Given the description of an element on the screen output the (x, y) to click on. 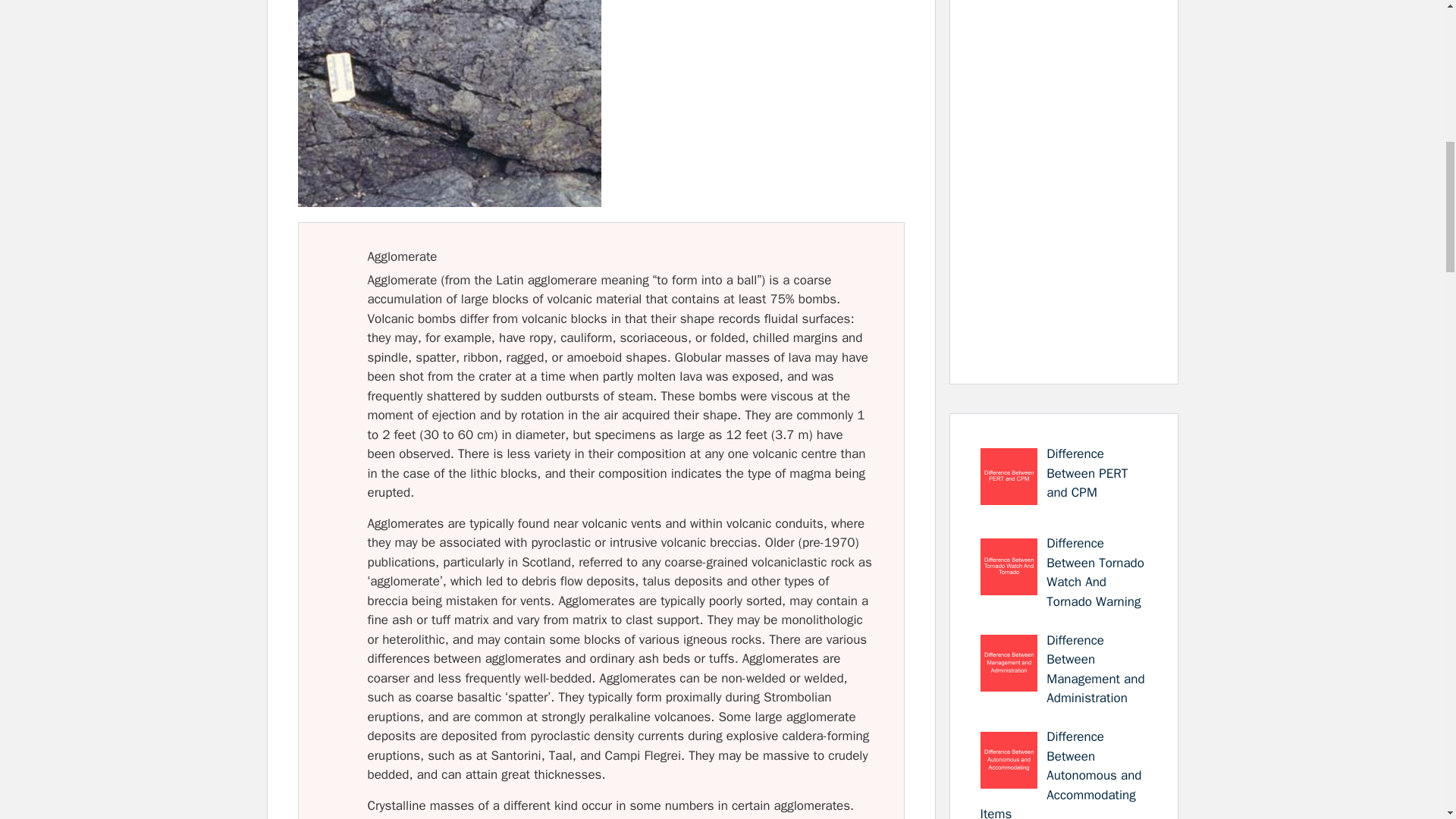
Difference Between Autonomous and Accommodating Items (1060, 773)
Difference Between PERT and CPM (1086, 472)
Difference Between Tornado Watch And Tornado Warning (1095, 572)
Difference Between Management and Administration (1095, 669)
655px-agglomerate (448, 103)
